Given the description of an element on the screen output the (x, y) to click on. 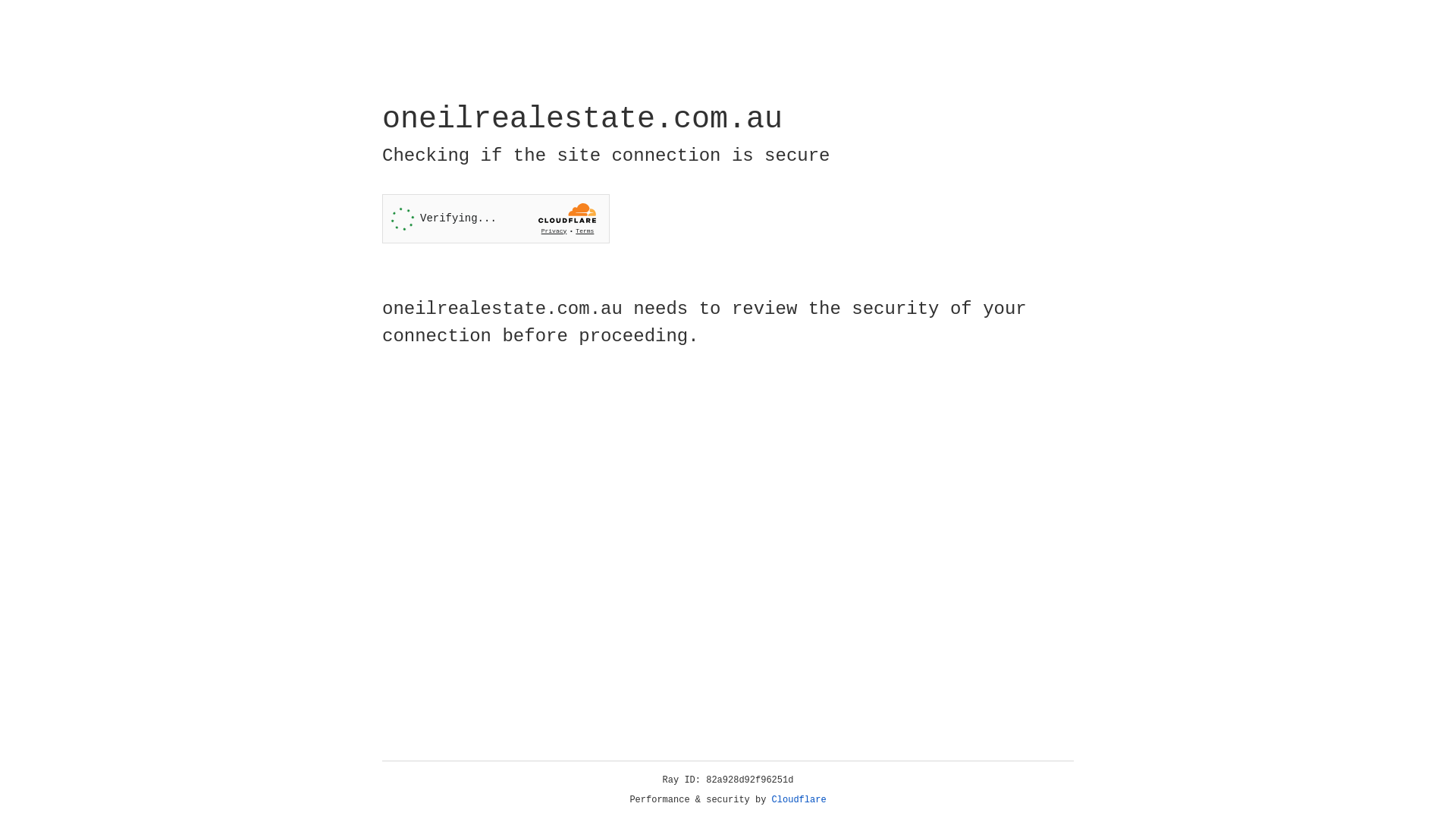
Widget containing a Cloudflare security challenge Element type: hover (495, 218)
Cloudflare Element type: text (798, 799)
